Given the description of an element on the screen output the (x, y) to click on. 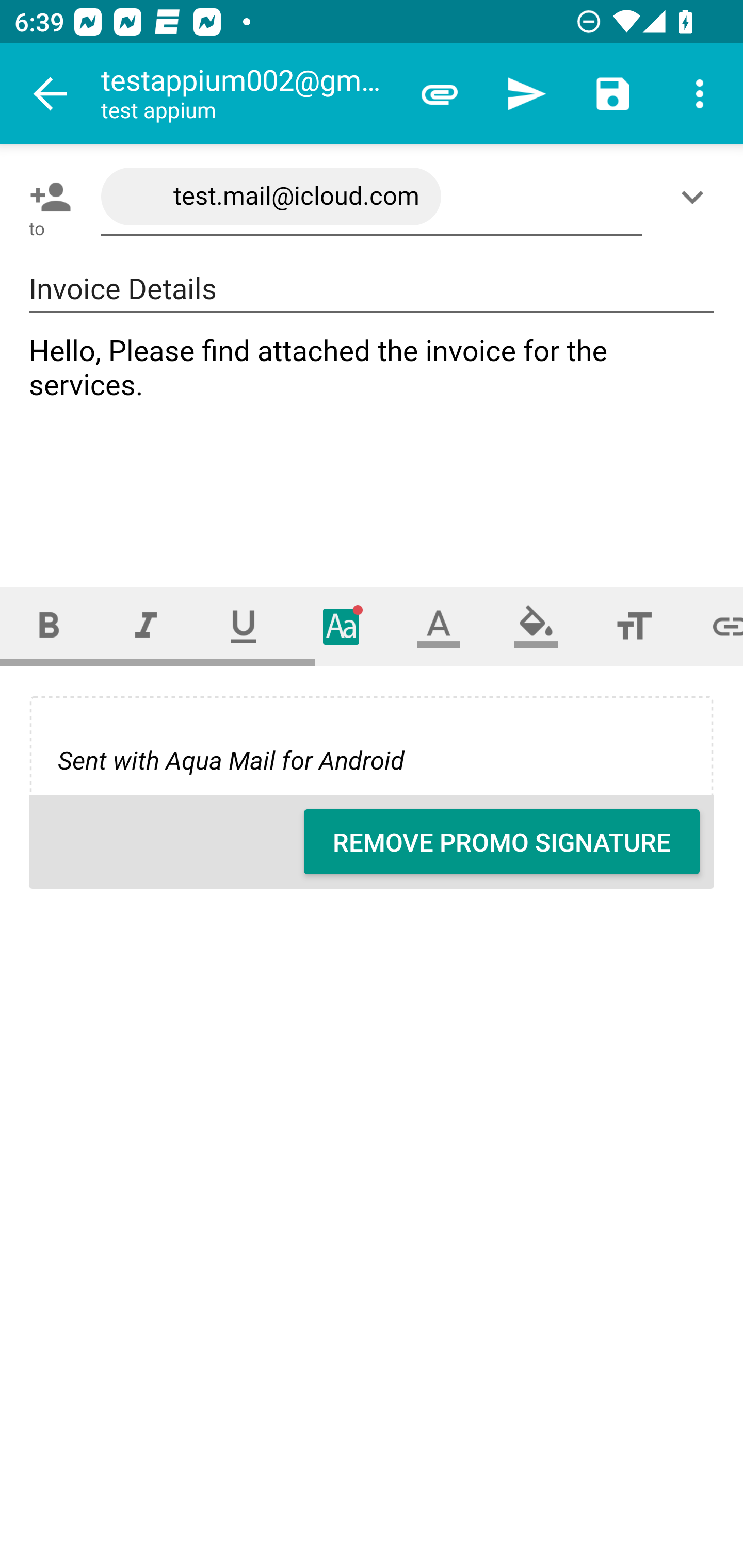
Navigate up (50, 93)
testappium002@gmail.com test appium (248, 93)
Attach (439, 93)
Send (525, 93)
Save (612, 93)
More options (699, 93)
test.mail@icloud.com,  (371, 197)
Pick contact: To (46, 196)
Show/Add CC/BCC (696, 196)
Invoice Details (371, 288)
Bold (48, 626)
Italic (145, 626)
Underline (243, 626)
Typeface (font) (341, 626)
Text color (438, 626)
Fill color (536, 626)
Font size (633, 626)
REMOVE PROMO SIGNATURE (501, 841)
